Given the description of an element on the screen output the (x, y) to click on. 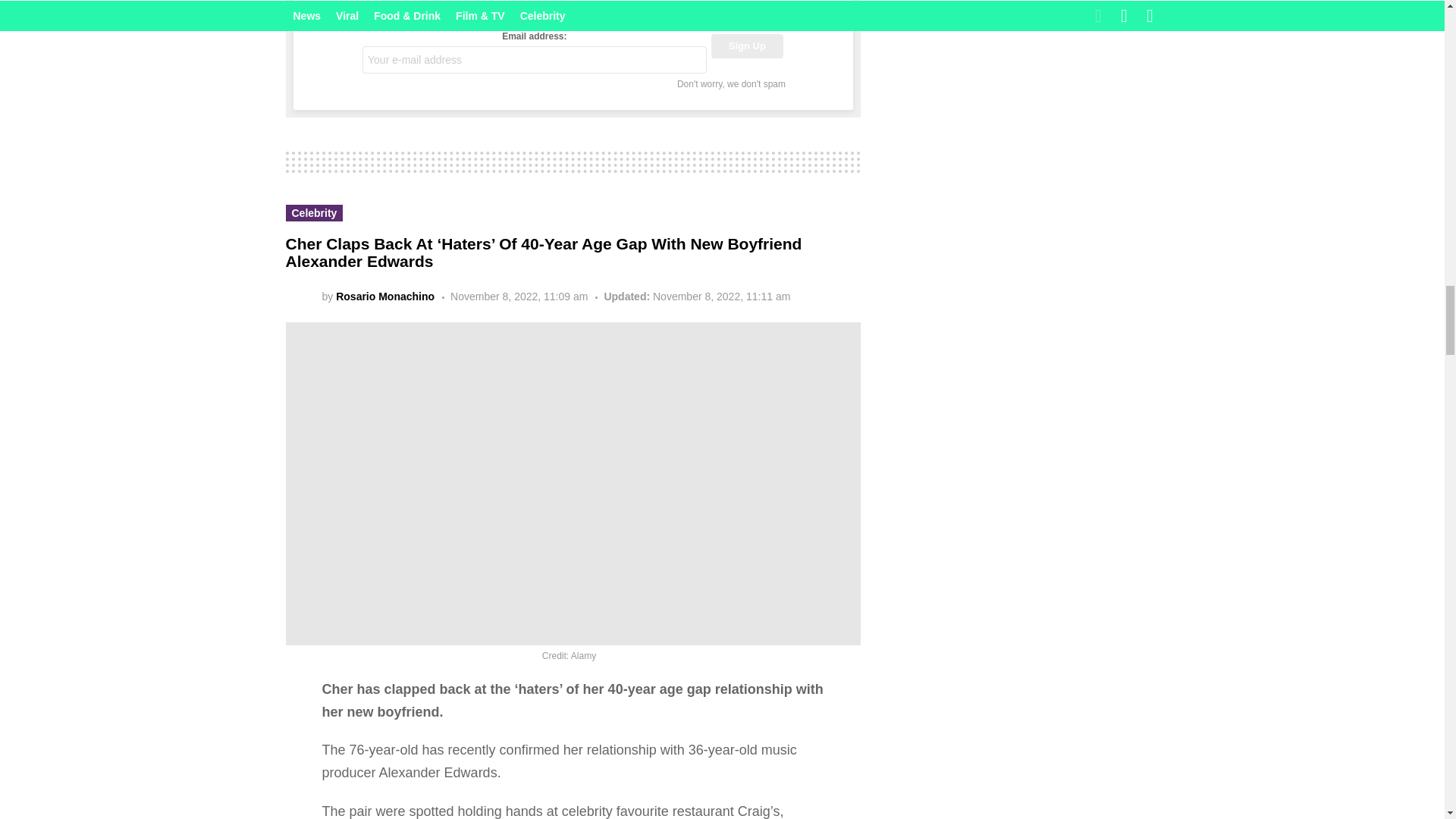
Sign up (747, 46)
Posts by Rosario Monachino (384, 296)
